Given the description of an element on the screen output the (x, y) to click on. 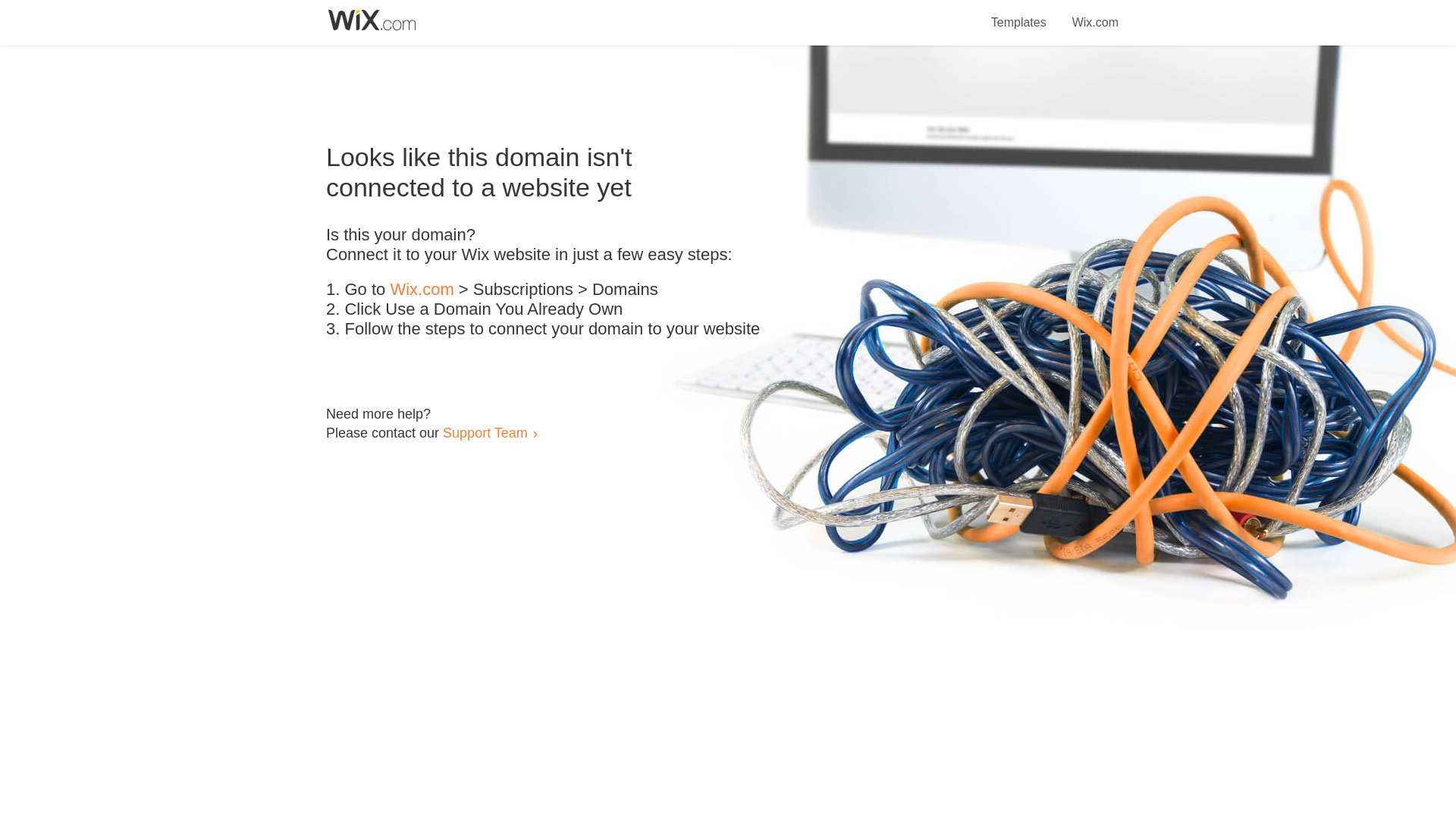
Support Team (484, 432)
Wix.com (421, 289)
Templates (1018, 14)
Wix.com (1095, 14)
